Given the description of an element on the screen output the (x, y) to click on. 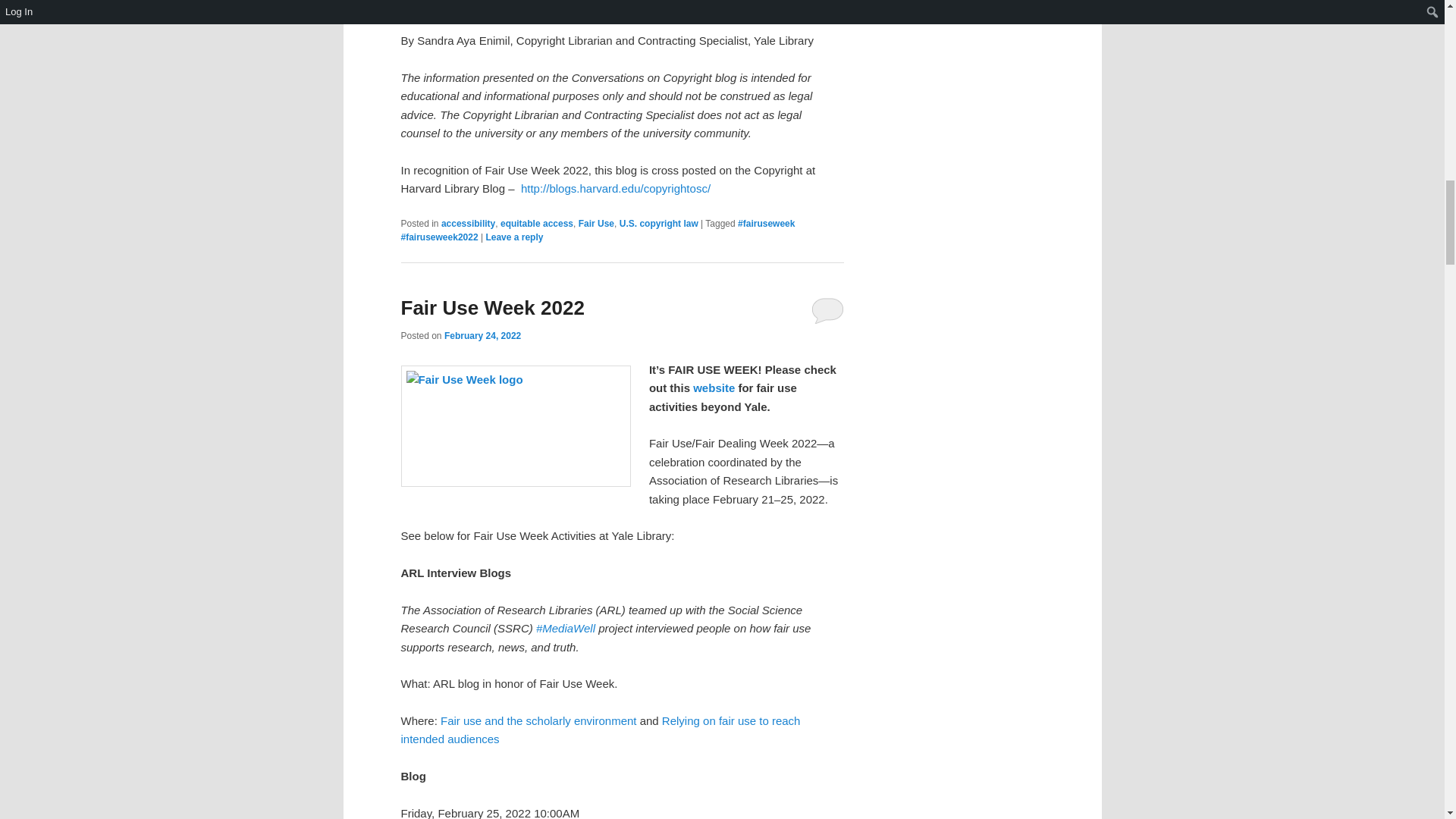
equitable access (536, 223)
Fair Use (596, 223)
U.S. copyright law (659, 223)
website (714, 387)
February 24, 2022 (482, 335)
accessibility (468, 223)
Leave a reply (513, 236)
11:38 pm (482, 335)
Fair use and the scholarly environment (538, 720)
Fair Use Week 2022 (491, 307)
